Given the description of an element on the screen output the (x, y) to click on. 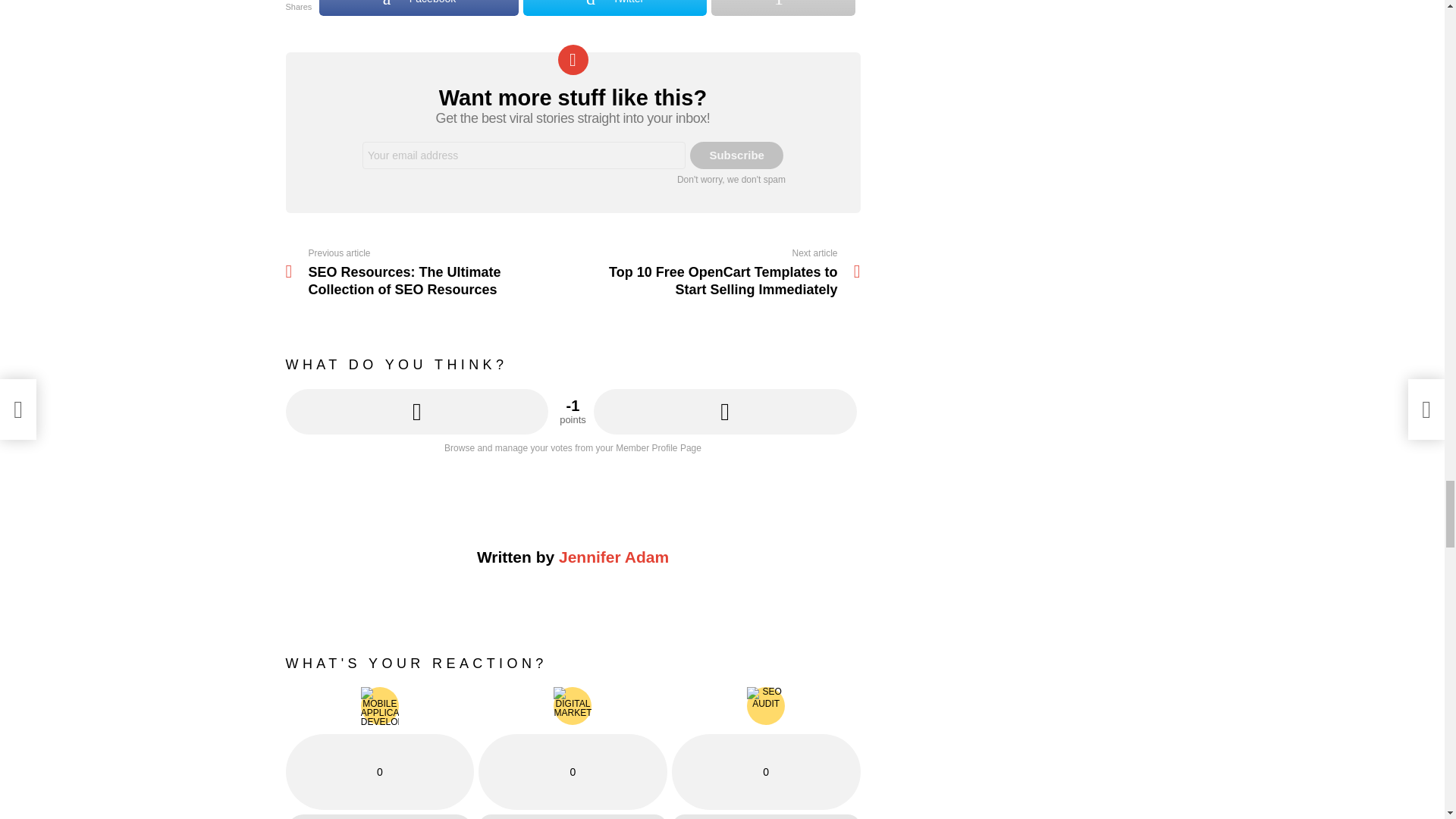
Subscribe (736, 154)
